Given the description of an element on the screen output the (x, y) to click on. 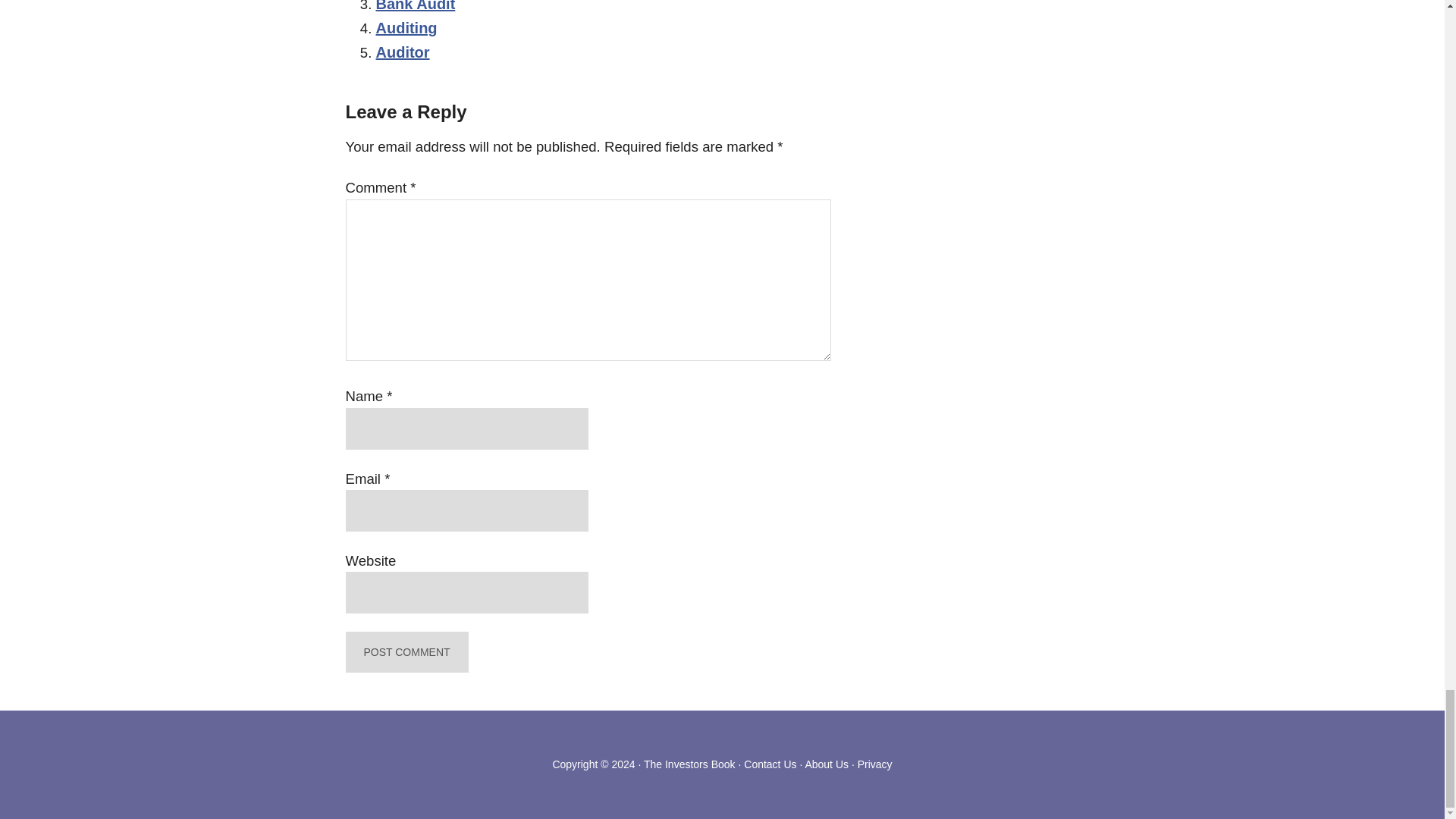
Auditing (406, 27)
Privacy (874, 764)
Contact Us (770, 764)
Auditor (402, 52)
Auditor (402, 52)
Post Comment (407, 651)
Auditing (406, 27)
About Us (826, 764)
Bank Audit (415, 6)
Post Comment (407, 651)
